Given the description of an element on the screen output the (x, y) to click on. 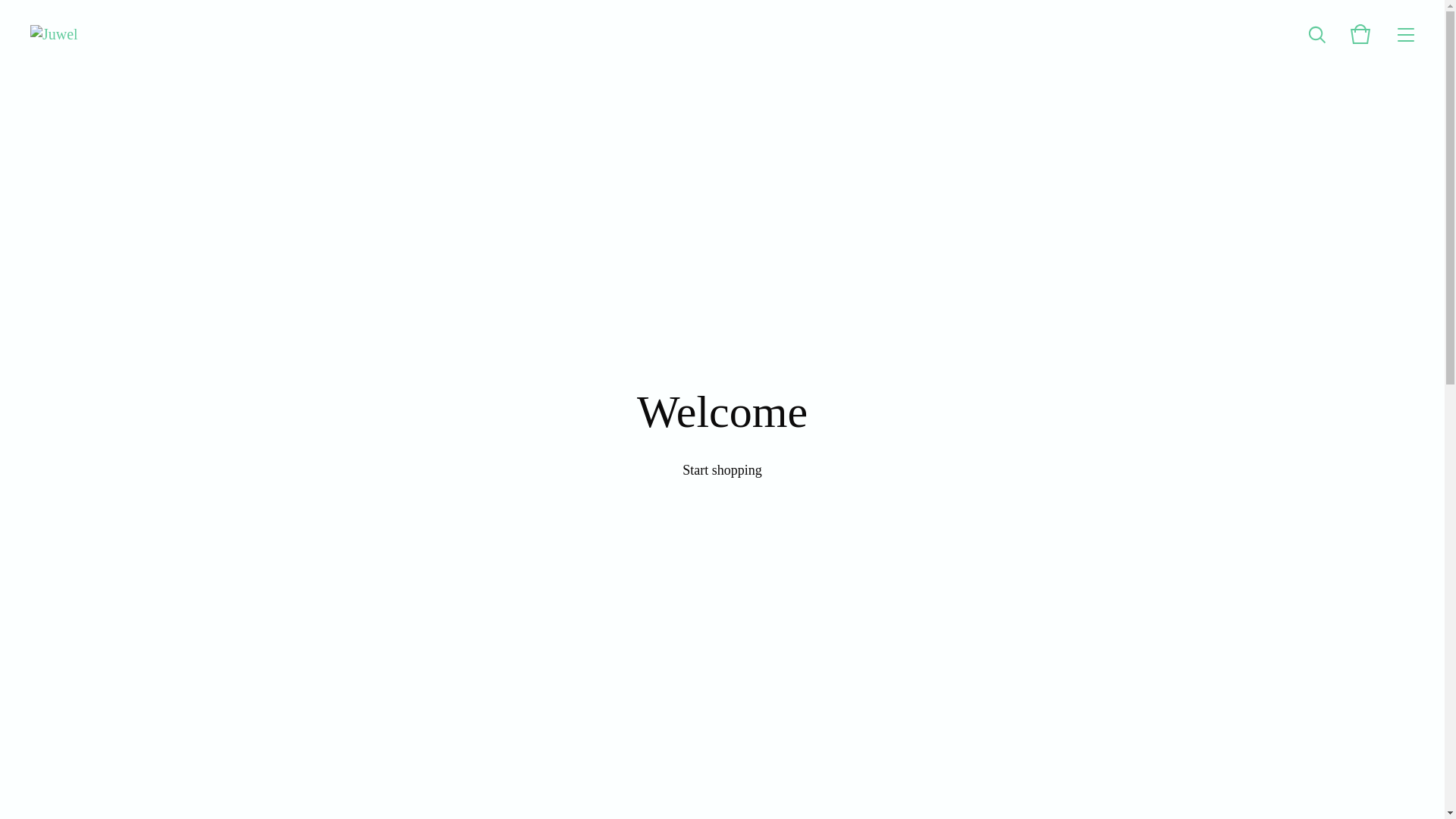
Juwel Element type: hover (54, 34)
Start shopping Element type: text (721, 470)
Menu Element type: hover (1405, 34)
